Given the description of an element on the screen output the (x, y) to click on. 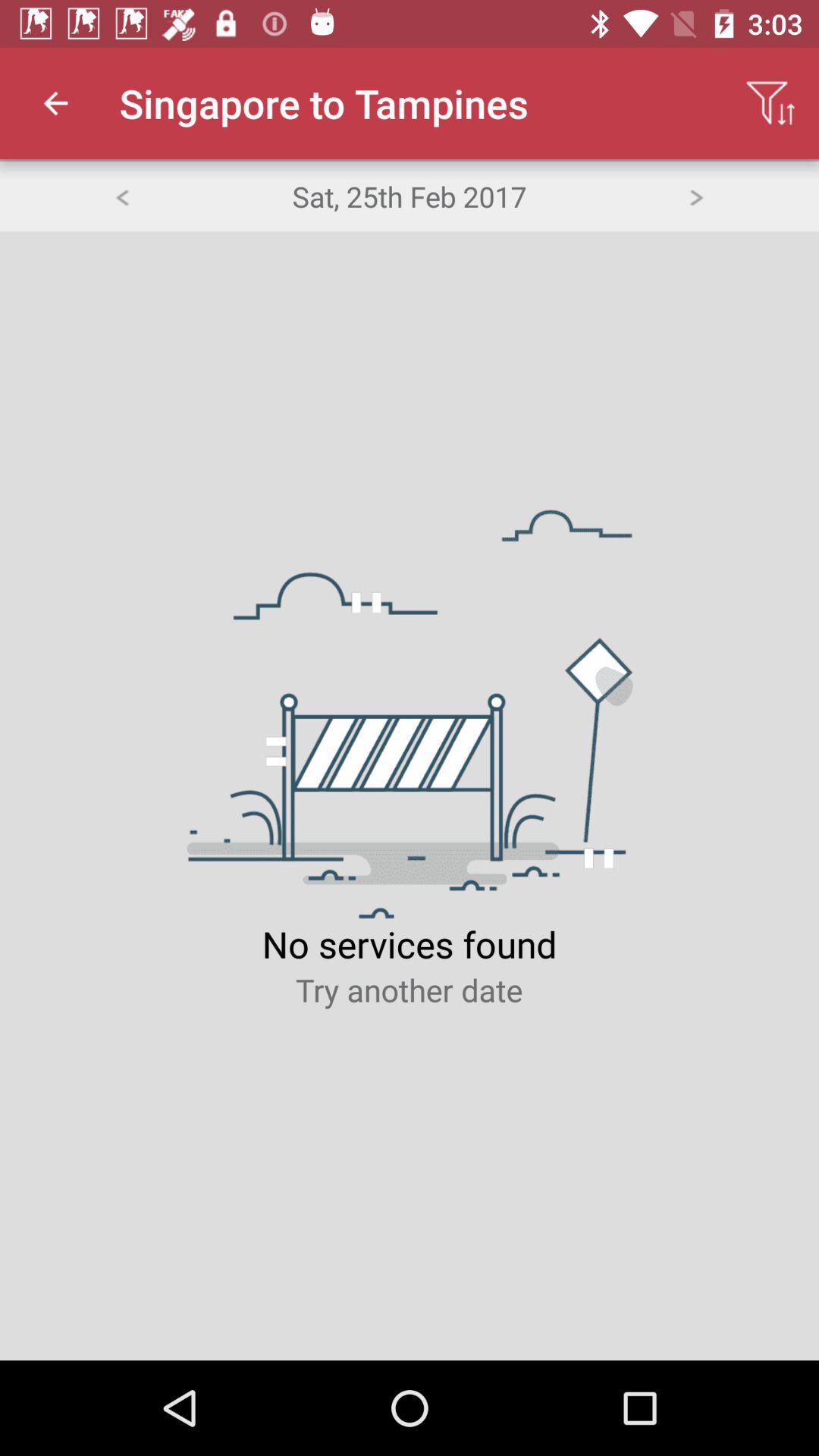
go forward (696, 196)
